Given the description of an element on the screen output the (x, y) to click on. 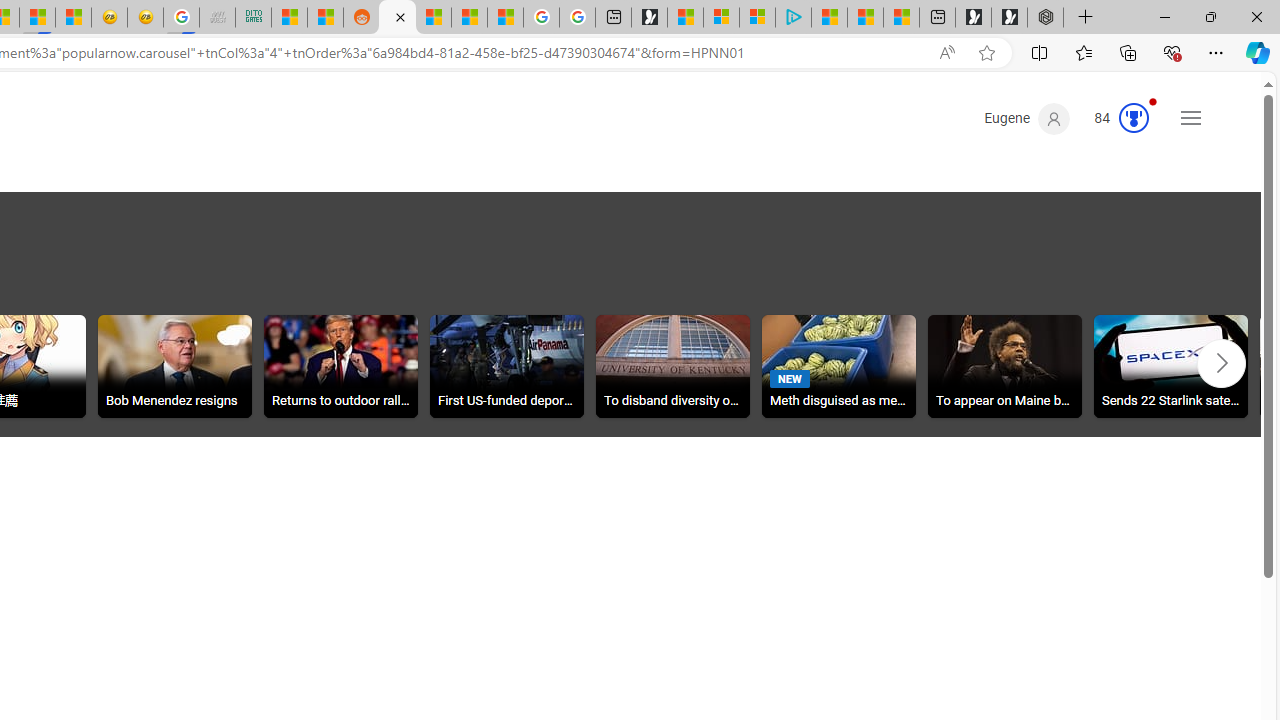
These 3 Stocks Pay You More Than 5% to Own Them (901, 17)
Settings and quick links (1190, 117)
First US-funded deportation (506, 369)
Utah sues federal government - Search (397, 17)
First US-funded deportation (506, 365)
To disband diversity office (673, 369)
Meth disguised as melons NEW (838, 365)
